Given the description of an element on the screen output the (x, y) to click on. 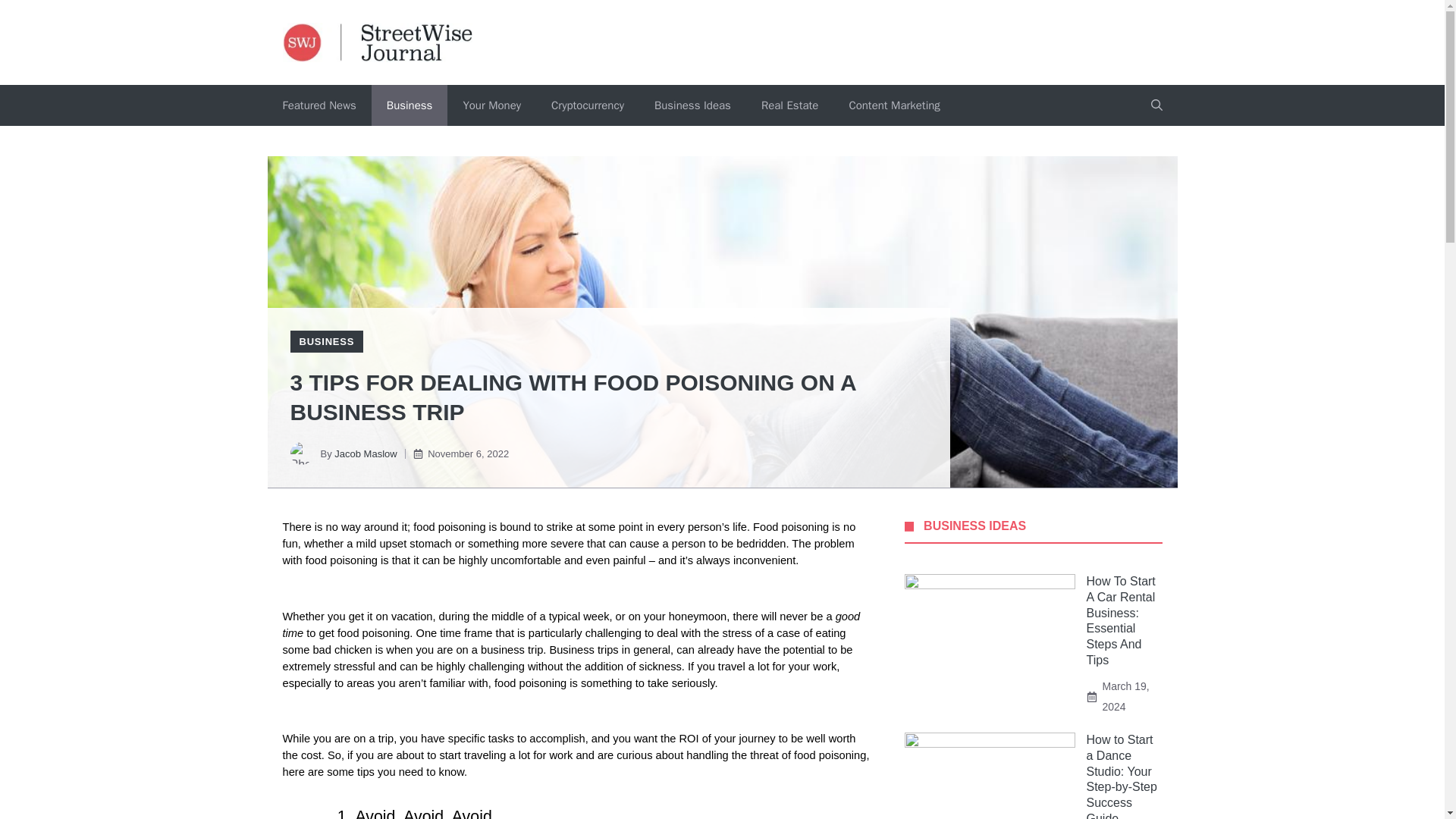
Jacob Maslow (365, 453)
Business (409, 105)
Real Estate (788, 105)
BUSINESS (325, 341)
Featured News (318, 105)
Content Marketing (893, 105)
Business Ideas (692, 105)
Cryptocurrency (587, 105)
Your Money (490, 105)
